Given the description of an element on the screen output the (x, y) to click on. 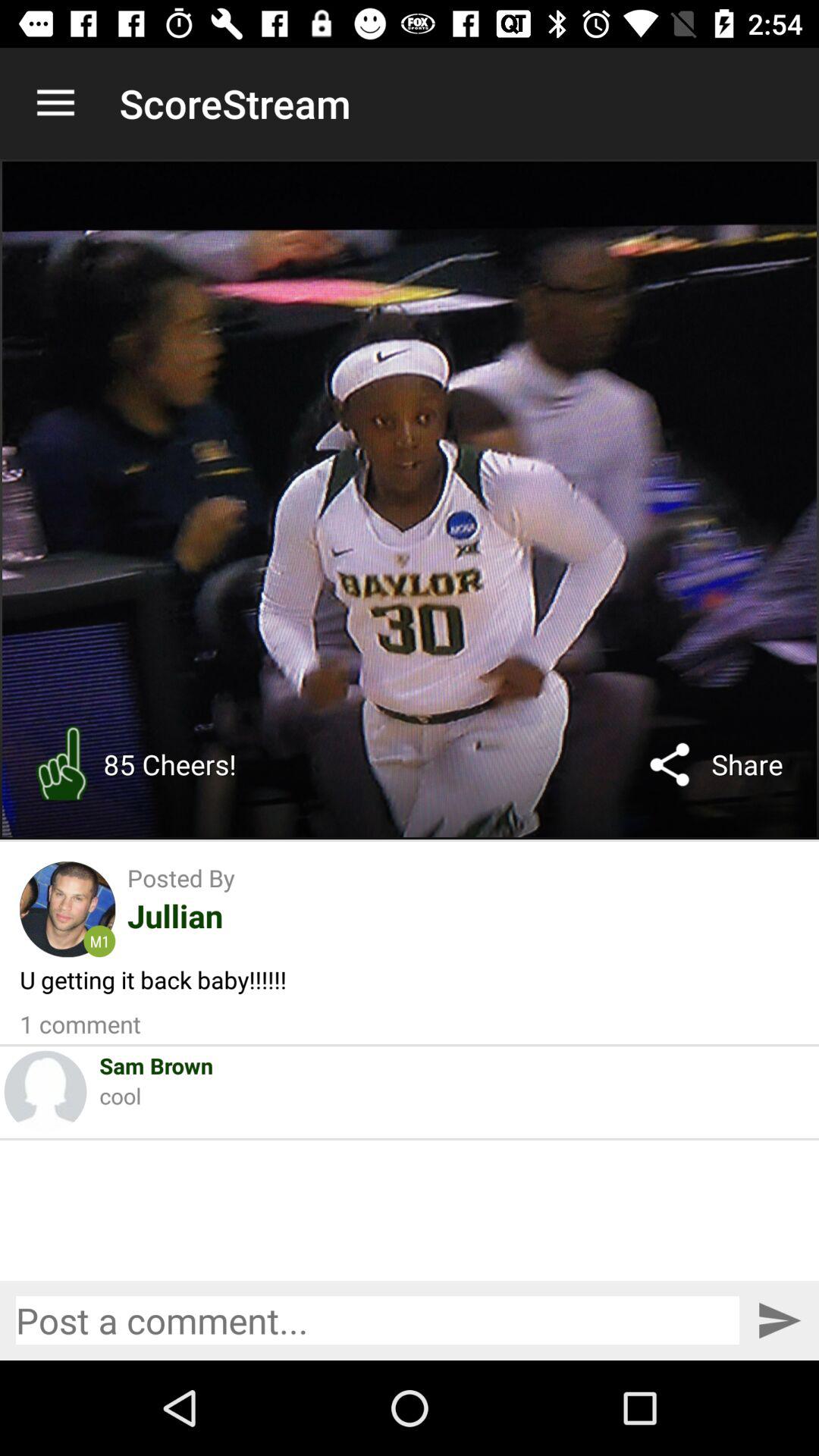
turn on item below 1 comment (156, 1065)
